Given the description of an element on the screen output the (x, y) to click on. 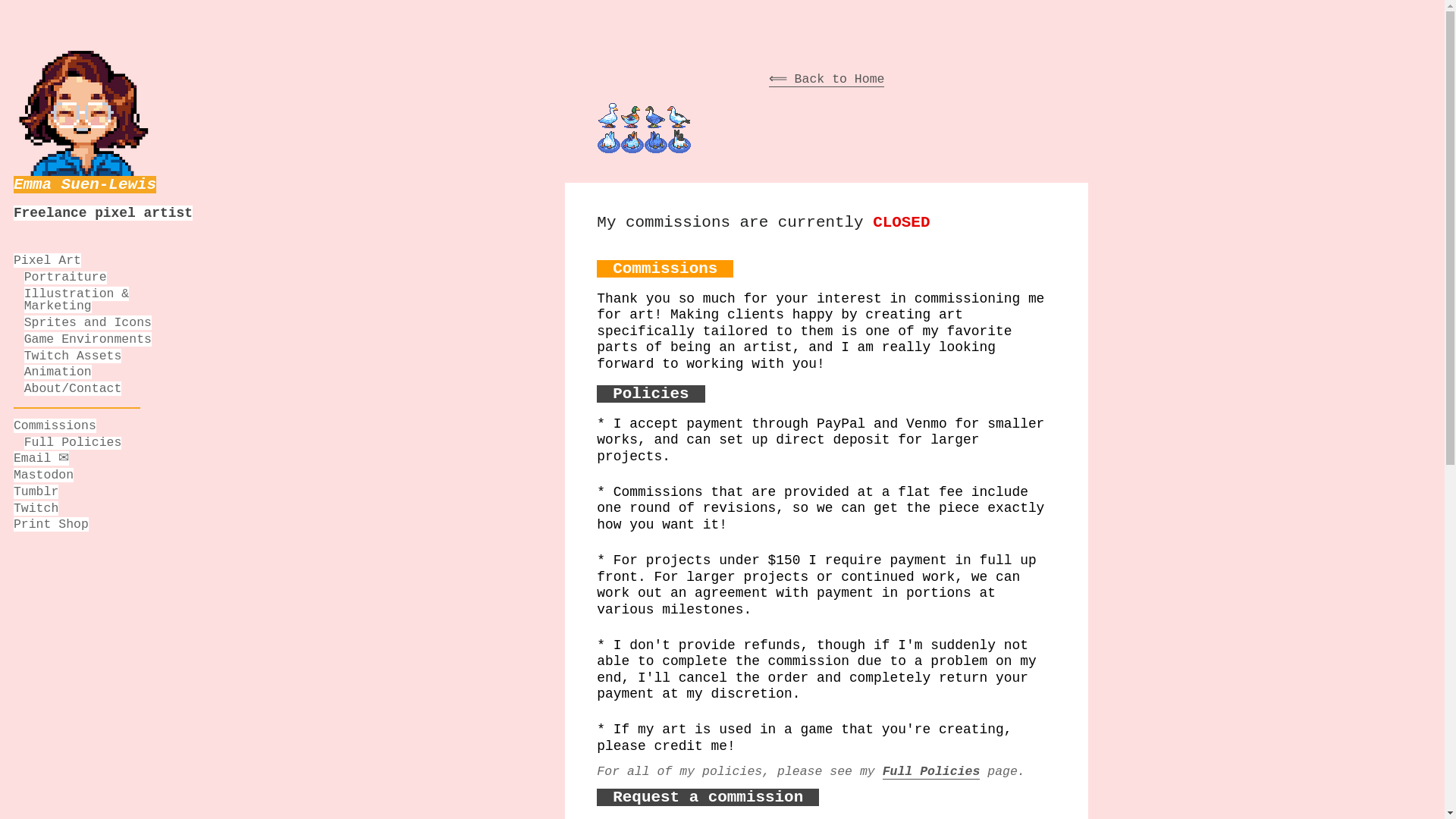
Full Policies (73, 441)
Portraiture (65, 277)
Full Policies (930, 771)
Twitch Assets (73, 355)
Tumblr (35, 491)
Sprites and Icons (87, 322)
Print Shop (50, 523)
Mastodon (43, 474)
Pixel Art (47, 260)
Game Environments (87, 339)
Commissions (54, 425)
Twitch (35, 508)
Animation (57, 371)
